Given the description of an element on the screen output the (x, y) to click on. 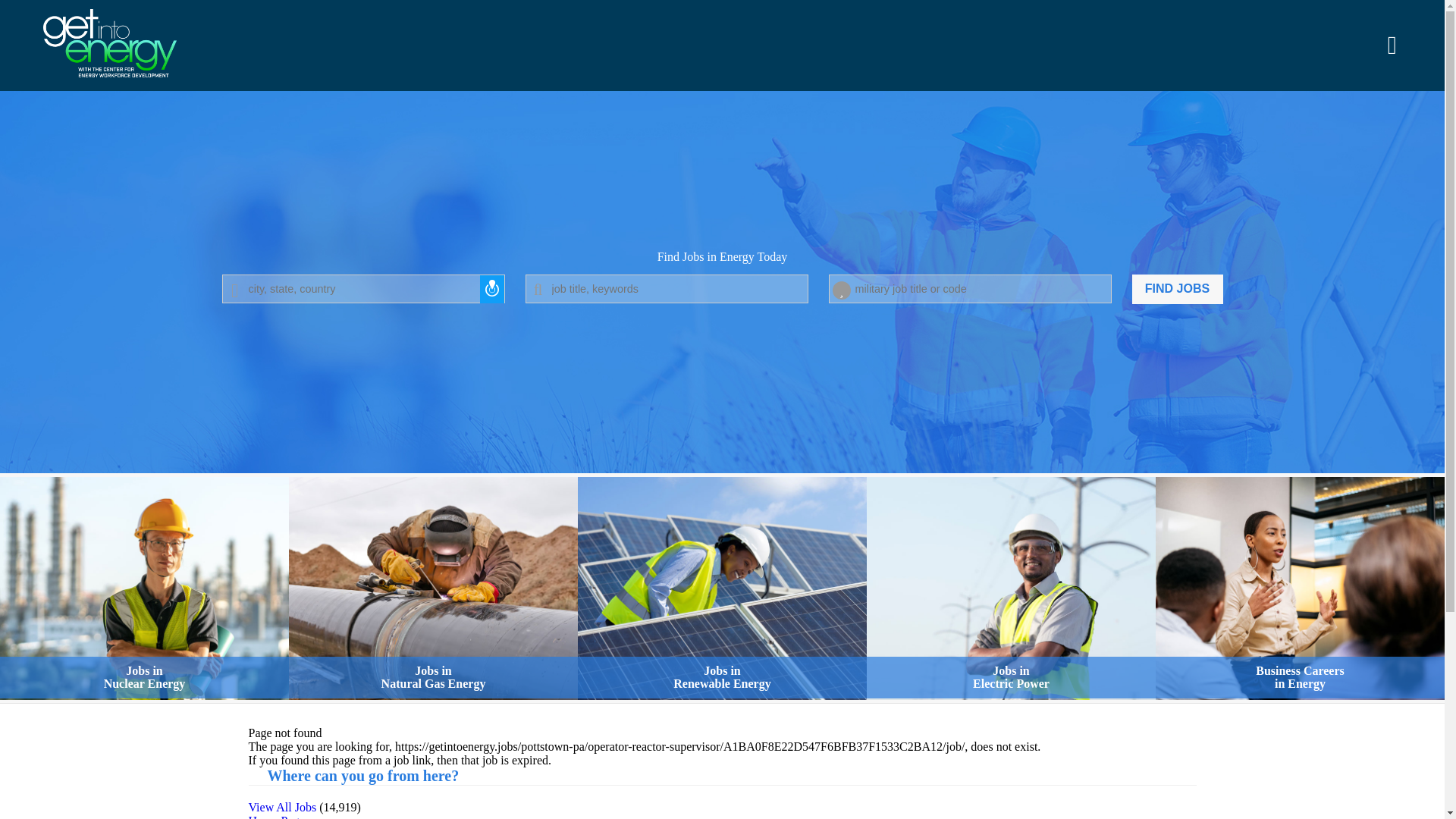
Search Phrase (1011, 589)
FIND JOBS (666, 288)
Search MOC (1177, 288)
Home Page (722, 589)
View All Jobs (970, 288)
Search Location (433, 589)
